Given the description of an element on the screen output the (x, y) to click on. 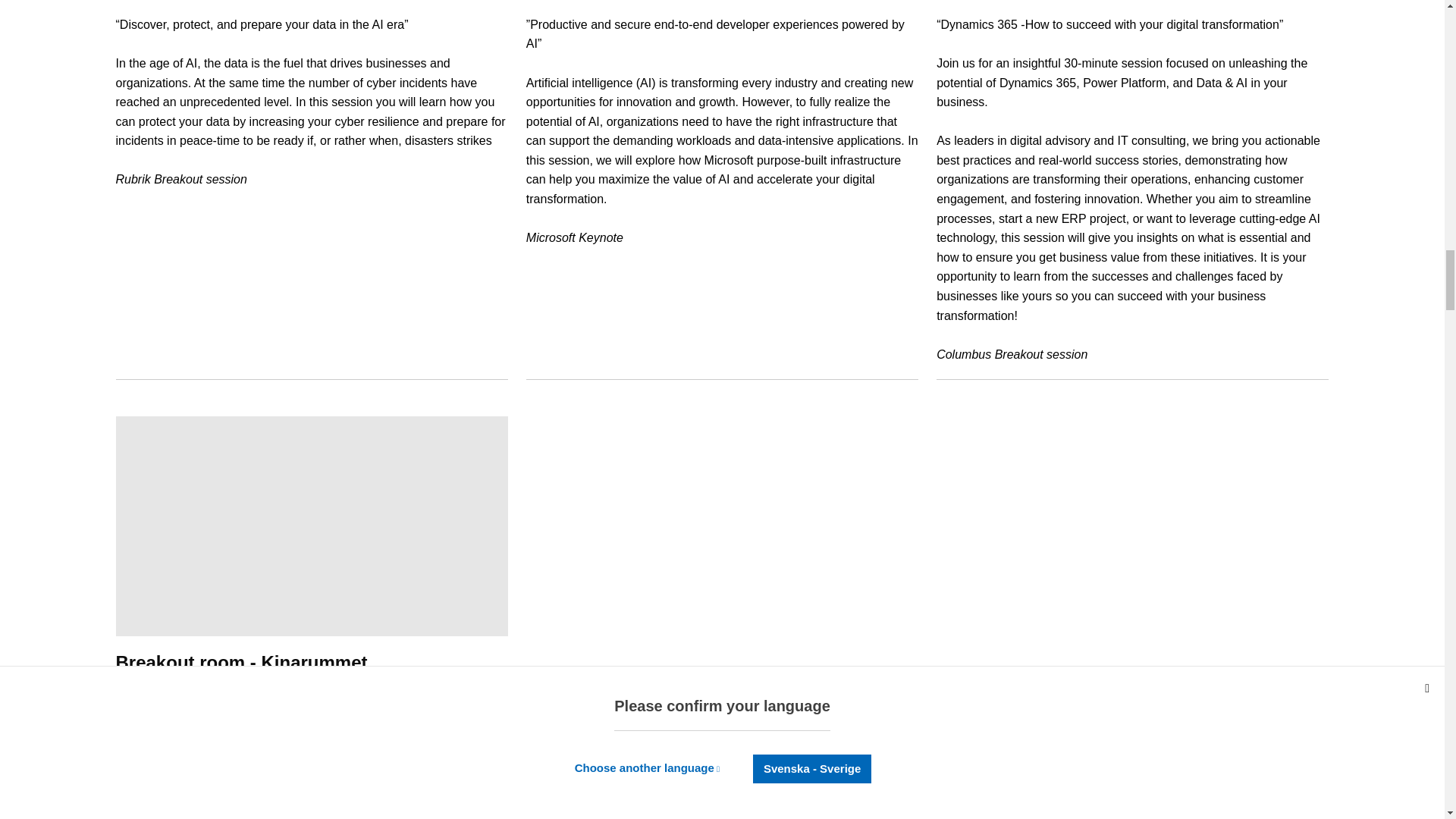
Breakout room - New York (310, 102)
